Given the description of an element on the screen output the (x, y) to click on. 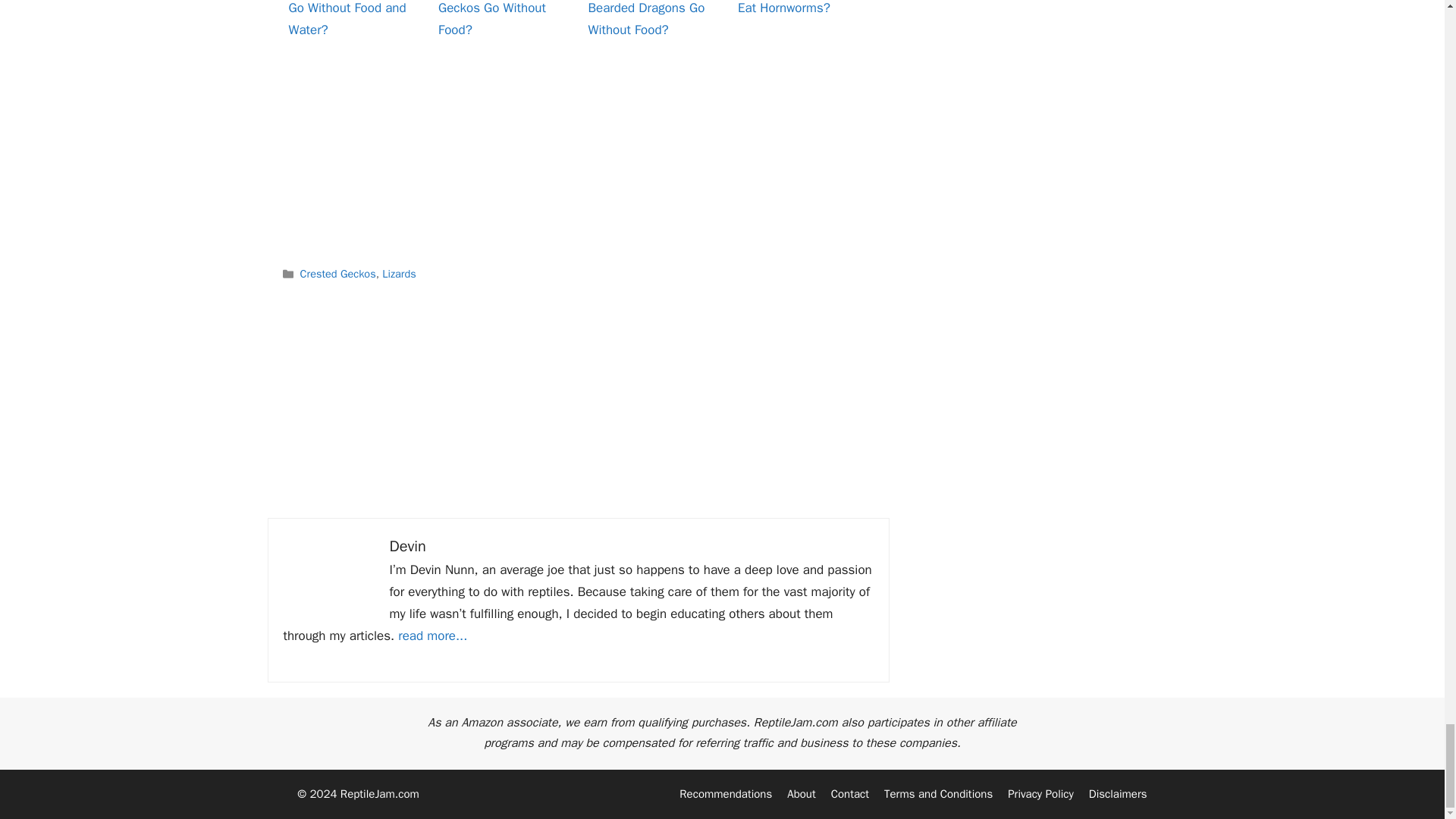
Read more (432, 635)
